Given the description of an element on the screen output the (x, y) to click on. 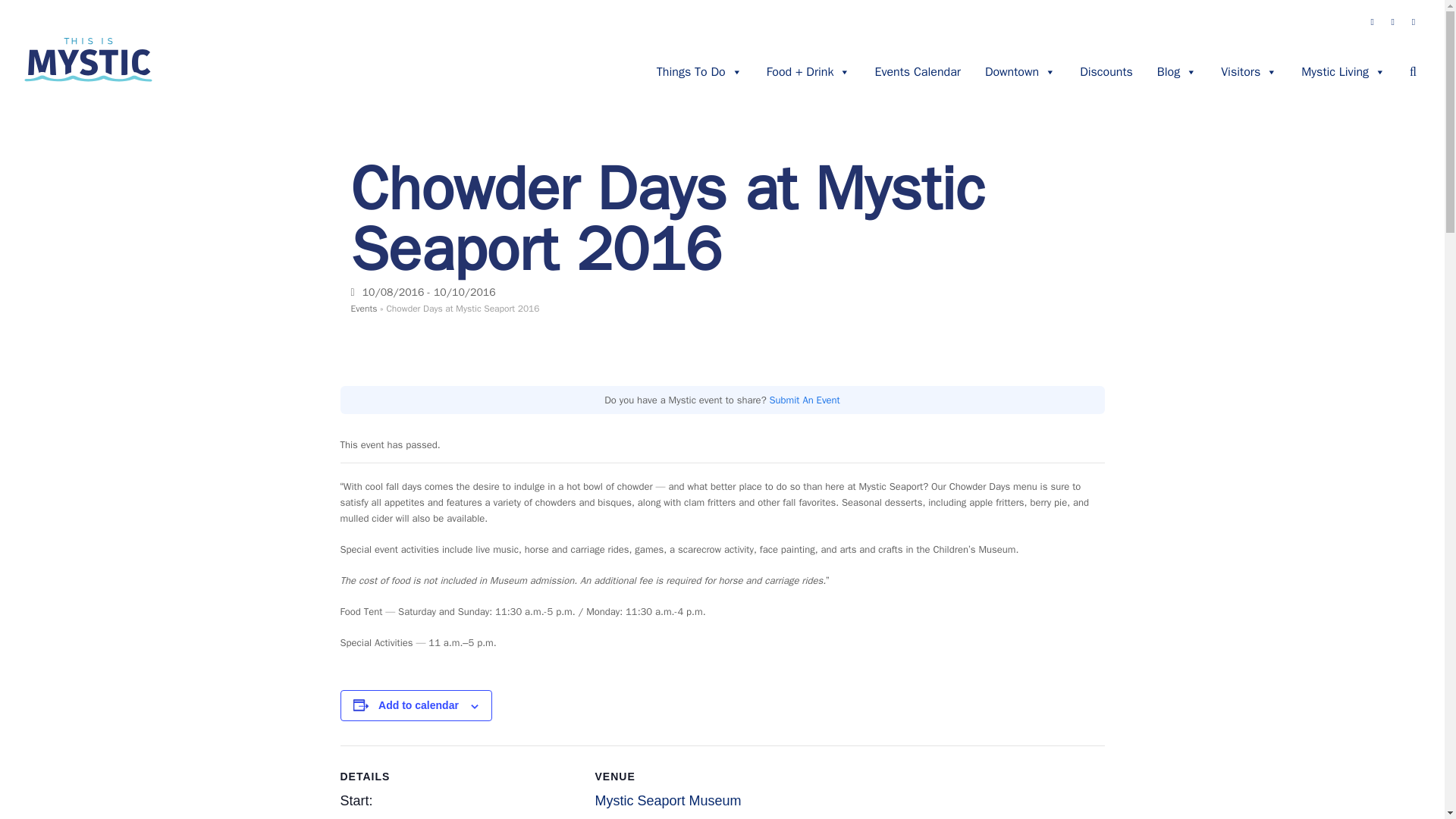
Events Calendar (917, 71)
Facebook (1372, 21)
Instagram (1392, 21)
Facebook (1372, 21)
Twitter (1413, 21)
Twitter (1413, 21)
Things To Do (699, 71)
Submit an Event (805, 399)
Instagram (1392, 21)
Downtown (1019, 71)
